Given the description of an element on the screen output the (x, y) to click on. 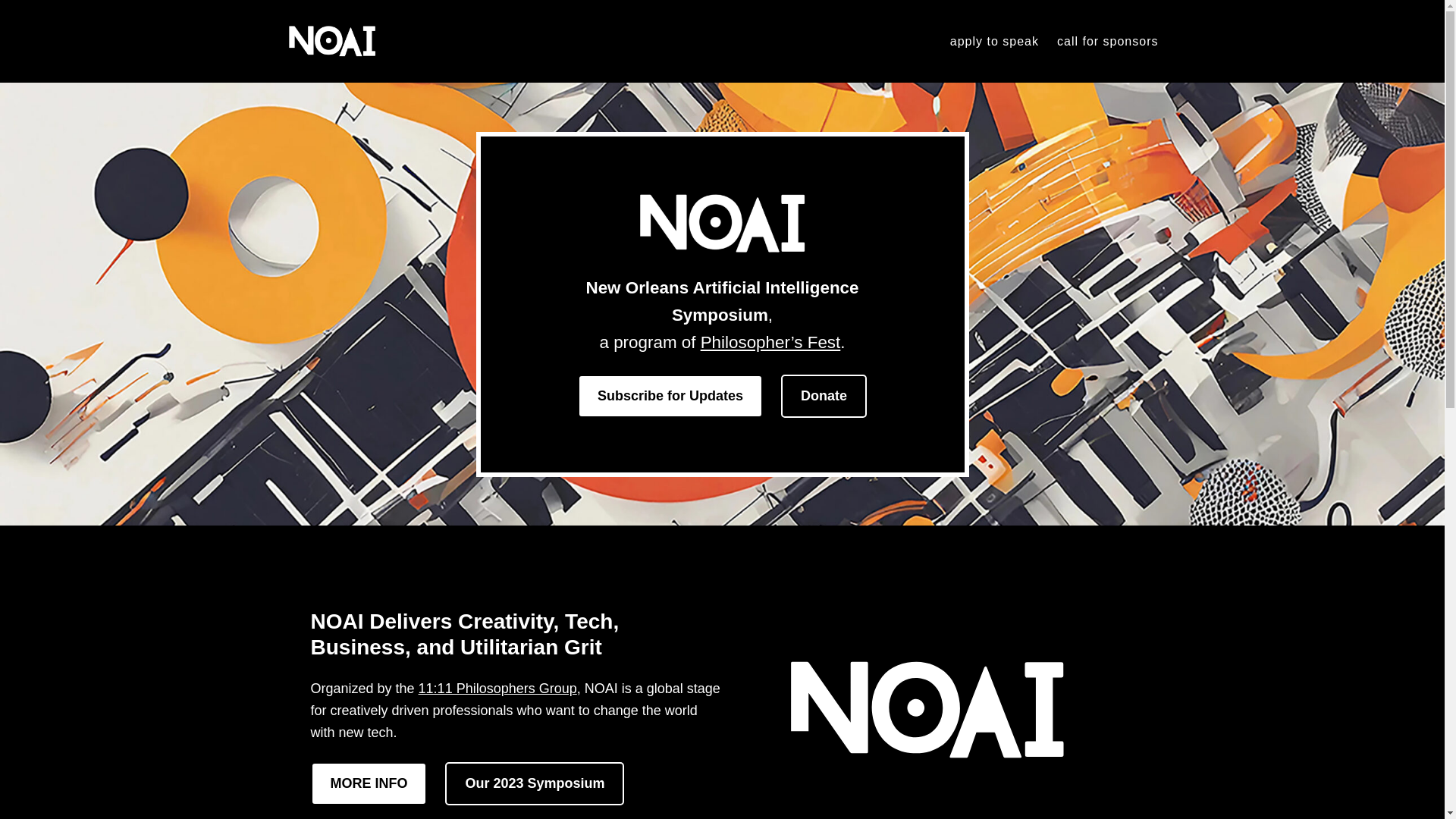
Subscribe for Updates (670, 395)
11:11 Philosophers Group (497, 688)
call for sponsors (1107, 41)
Our 2023 Symposium (534, 783)
MORE INFO (369, 783)
apply to speak (994, 41)
Donate (823, 395)
